Given the description of an element on the screen output the (x, y) to click on. 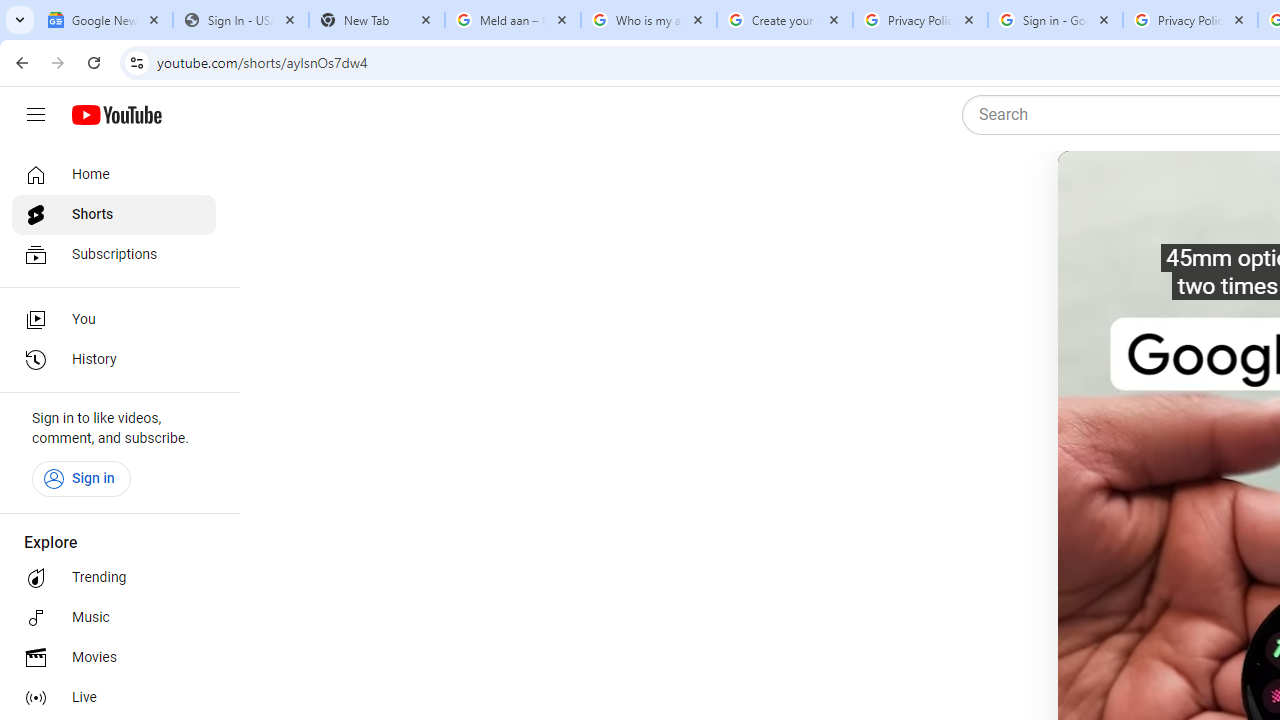
Guide (35, 115)
Google News (104, 20)
